Given the description of an element on the screen output the (x, y) to click on. 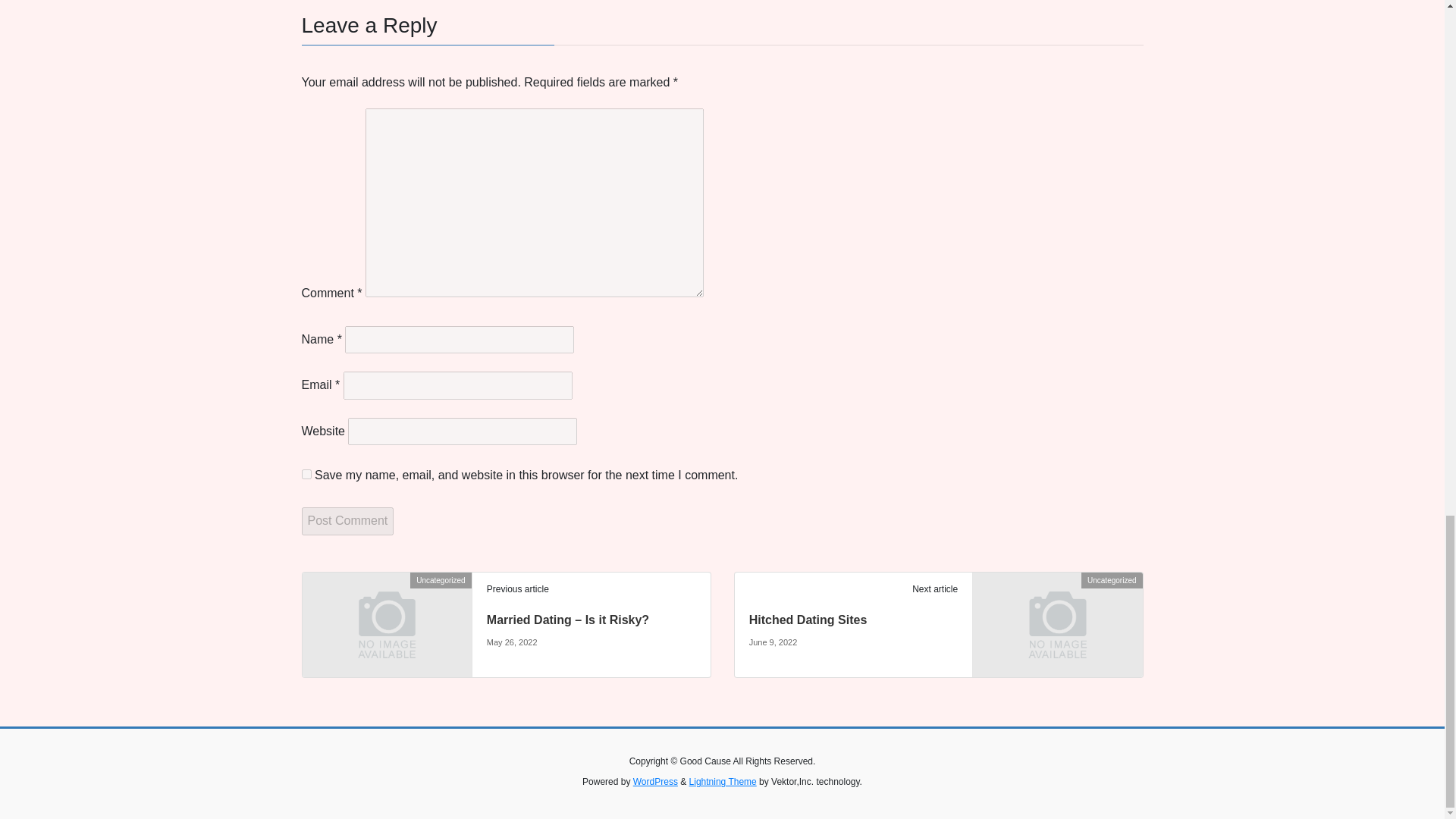
Hitched Dating Sites (808, 619)
Uncategorized (385, 623)
Lightning Theme (722, 781)
WordPress (655, 781)
yes (306, 474)
Post Comment (347, 520)
Post Comment (347, 520)
Free WordPress Theme Lightning (722, 781)
Uncategorized (1056, 623)
